Given the description of an element on the screen output the (x, y) to click on. 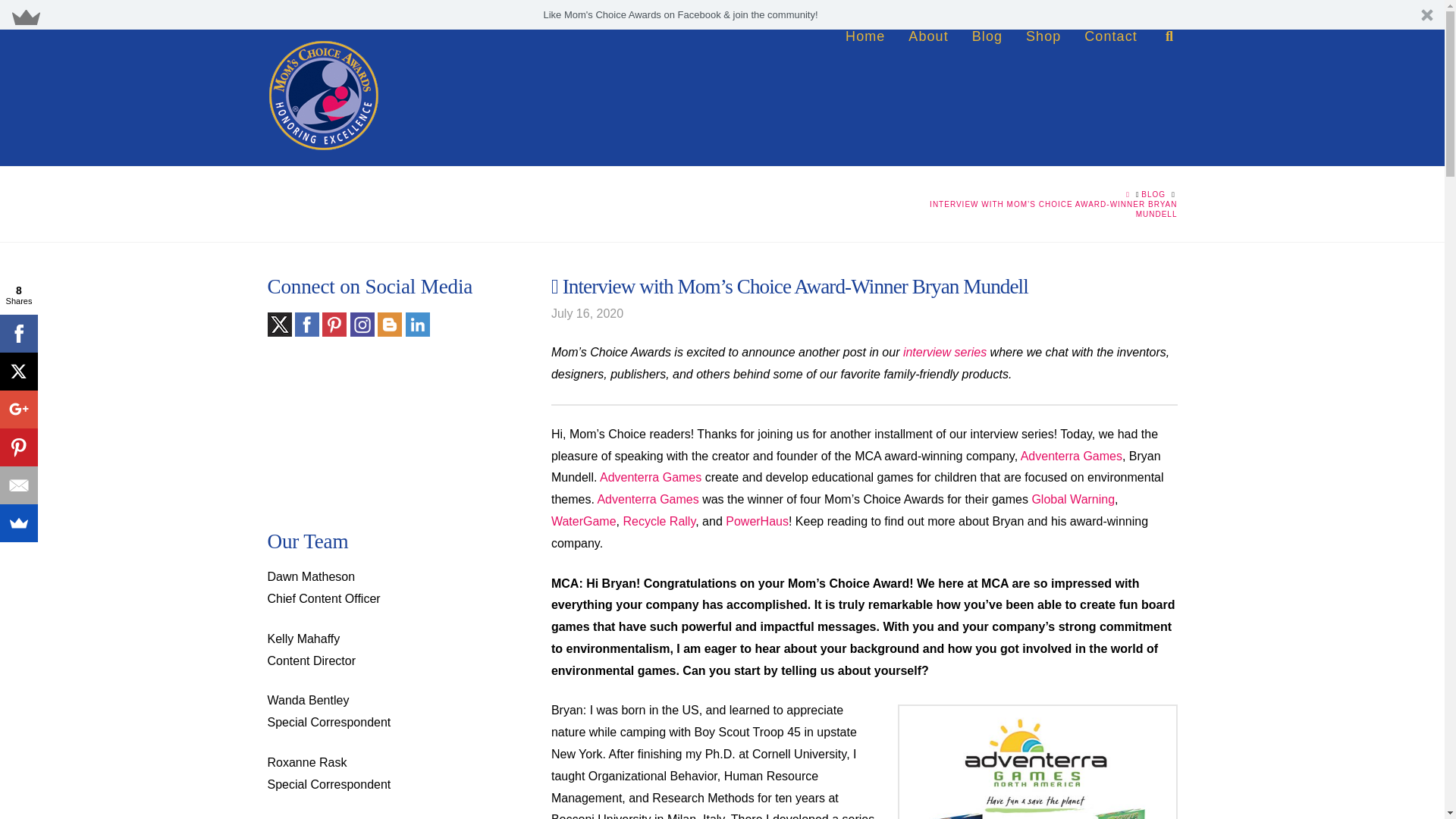
Recycle Rally (659, 521)
Blog Feed (417, 324)
You Are Here (1040, 209)
BLOG (1153, 194)
Adventerra Games (650, 477)
Blog Feed (362, 324)
Adventerra Games (647, 499)
Facebook (306, 324)
Global Warning (1072, 499)
Twitter (278, 324)
Adventerra Games (1071, 455)
Blog Feed (389, 324)
WaterGame (583, 521)
PowerHaus (757, 521)
Pinterest (333, 324)
